Given the description of an element on the screen output the (x, y) to click on. 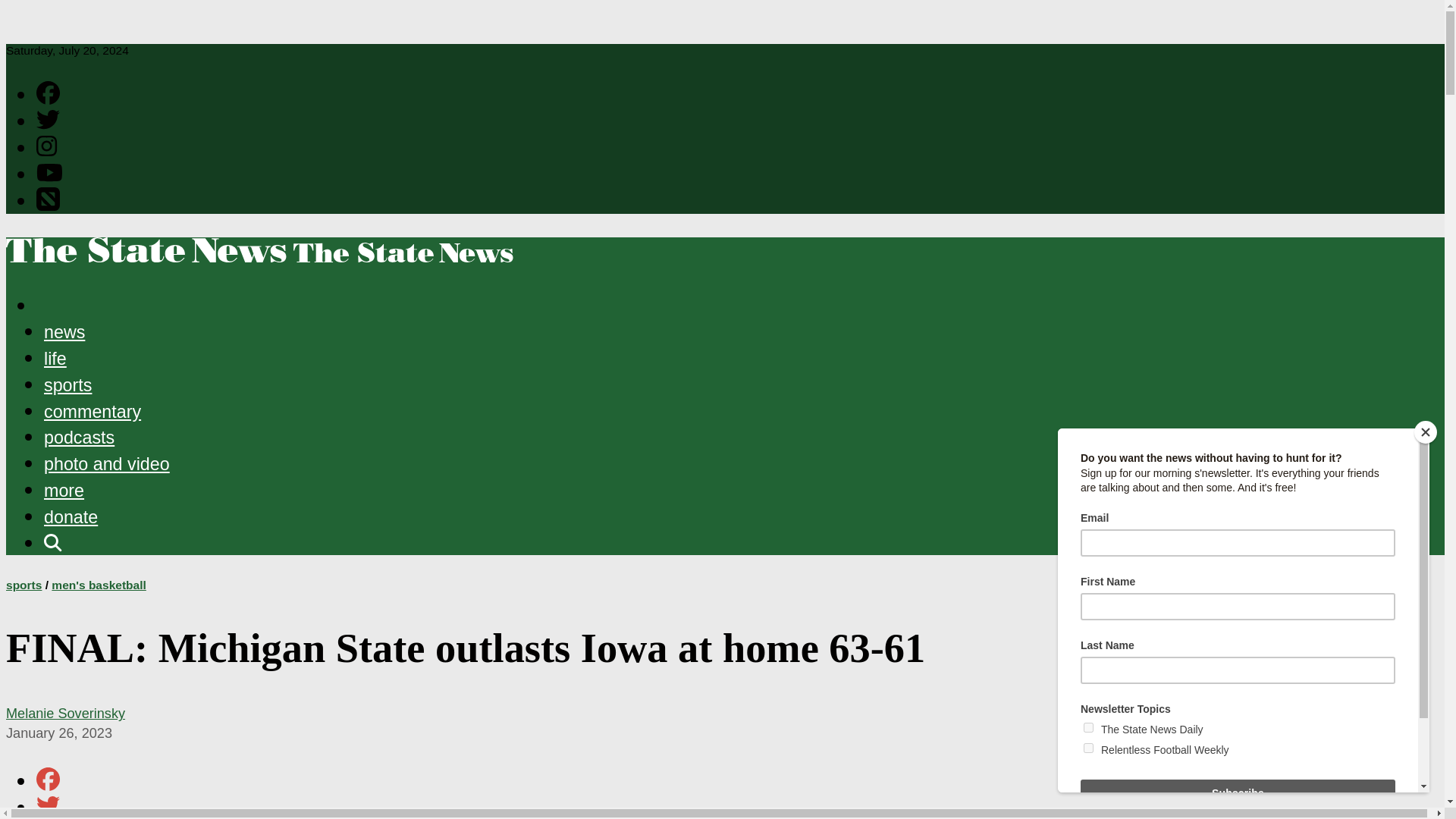
commentary (92, 411)
life (54, 358)
news (63, 332)
sports (67, 384)
photo and video (106, 464)
podcasts (79, 437)
more (63, 490)
